Given the description of an element on the screen output the (x, y) to click on. 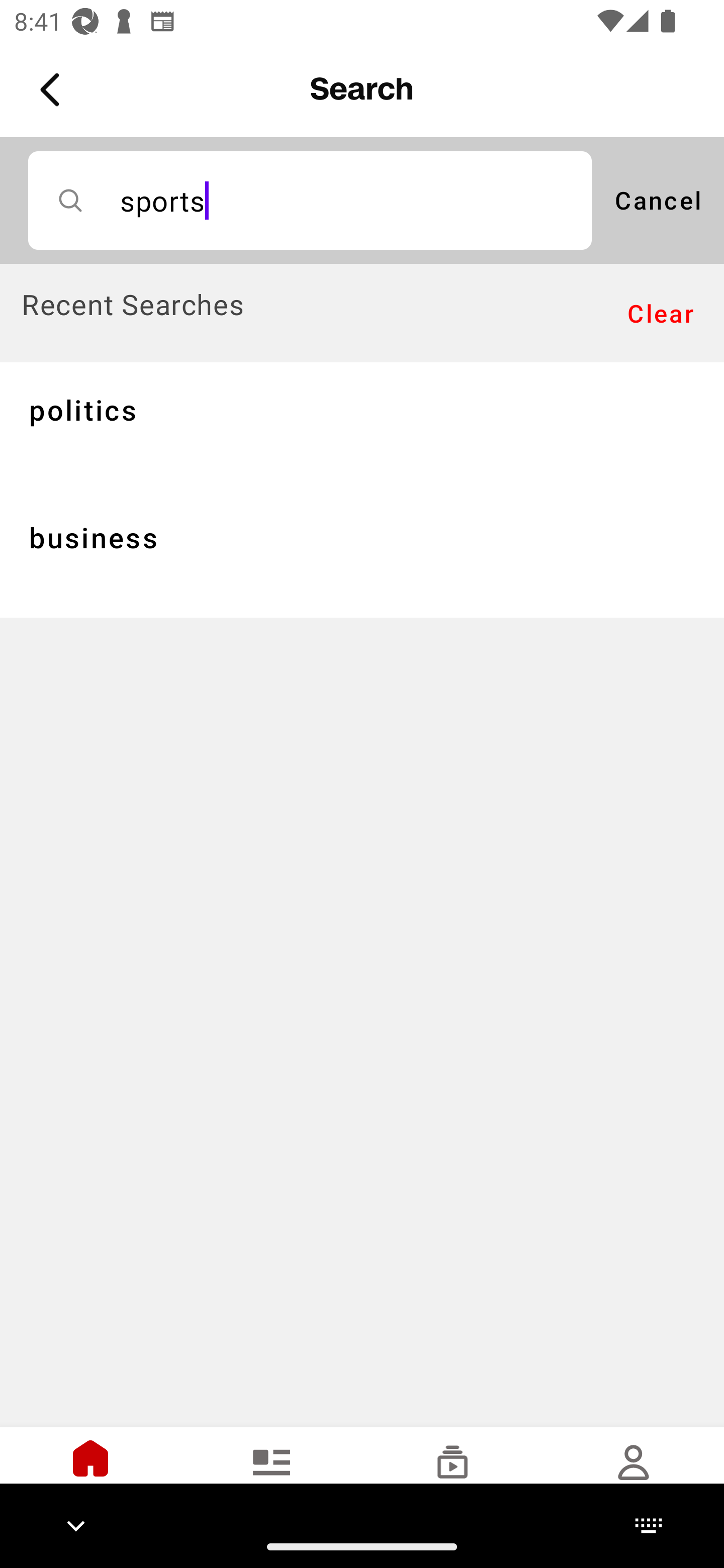
Back Button (52, 89)
Cancel (657, 199)
sports (309, 199)
Clear (660, 313)
politics
 (362, 425)
business
 (362, 553)
Elections (271, 1475)
Watch (452, 1475)
Settings (633, 1475)
